Given the description of an element on the screen output the (x, y) to click on. 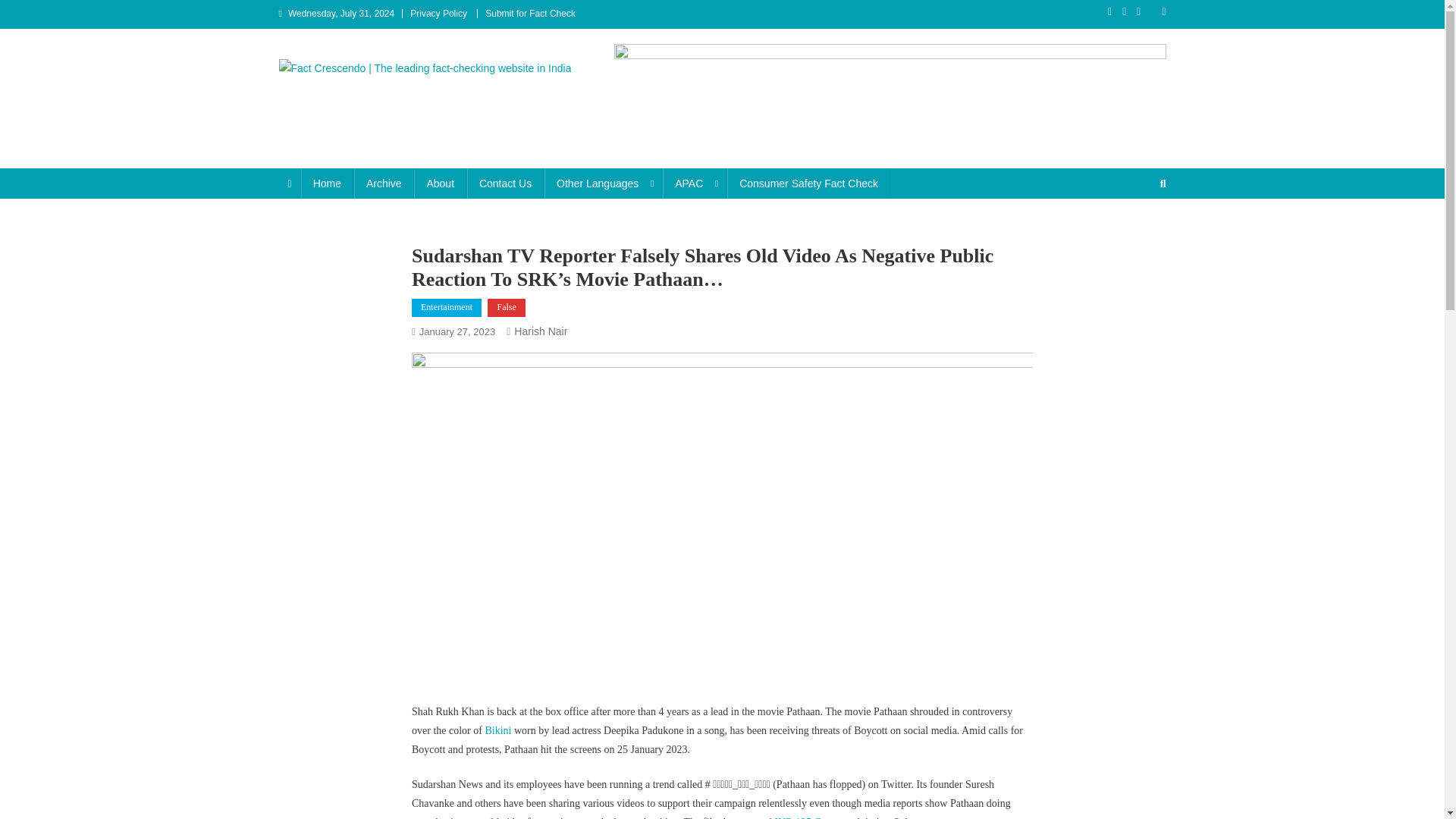
Archive (383, 183)
False (505, 307)
APAC (694, 183)
Privacy Policy (438, 13)
Entertainment (446, 307)
January 27, 2023 (457, 331)
Consumer Safety Fact Check (807, 183)
Contact Us (505, 183)
Submit for Fact Check (529, 13)
Search (1133, 234)
About (439, 183)
Home (327, 183)
Other Languages (603, 183)
Harish Nair (540, 331)
